Given the description of an element on the screen output the (x, y) to click on. 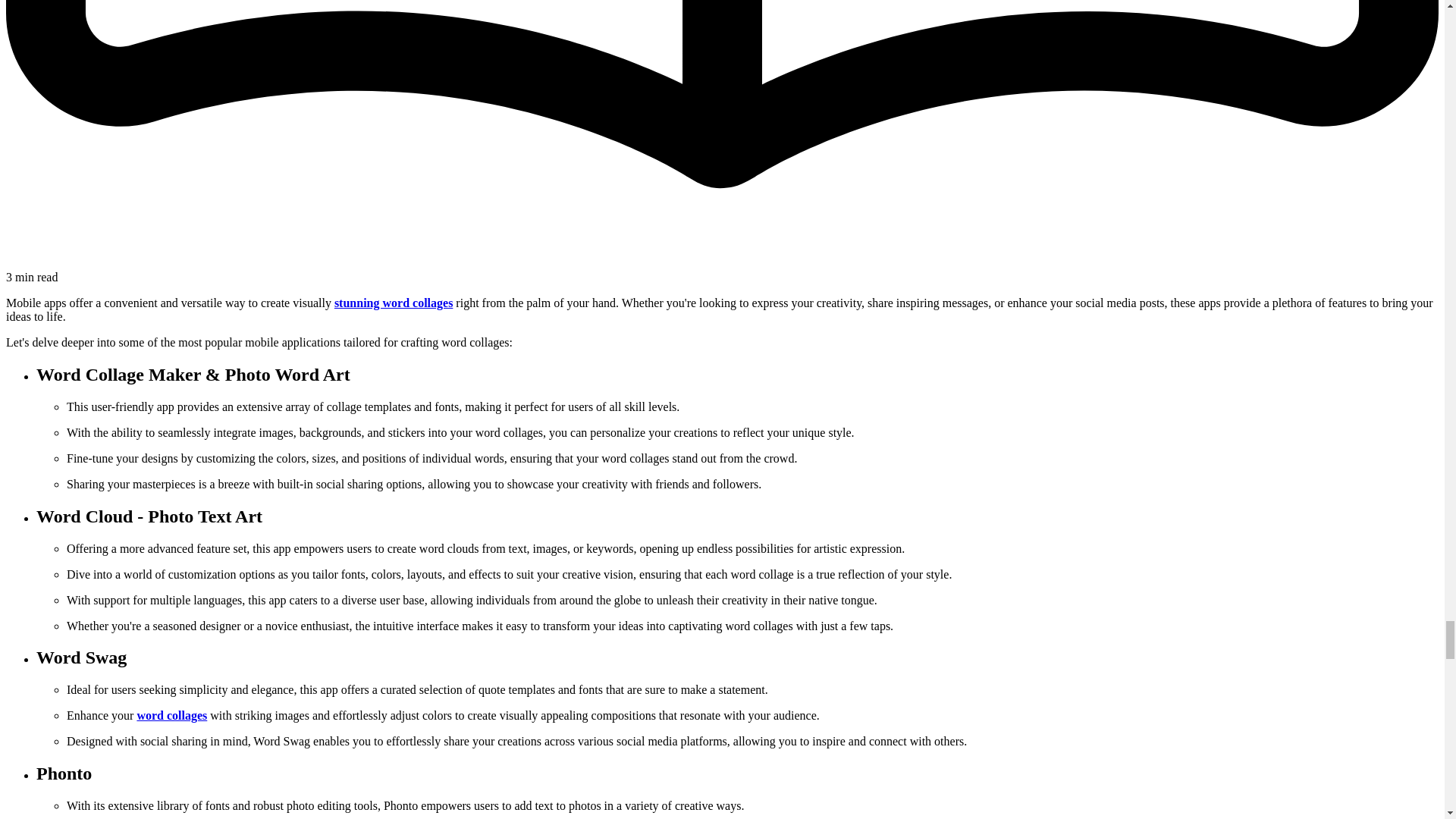
stunning word collages (393, 302)
word collages (171, 715)
